Given the description of an element on the screen output the (x, y) to click on. 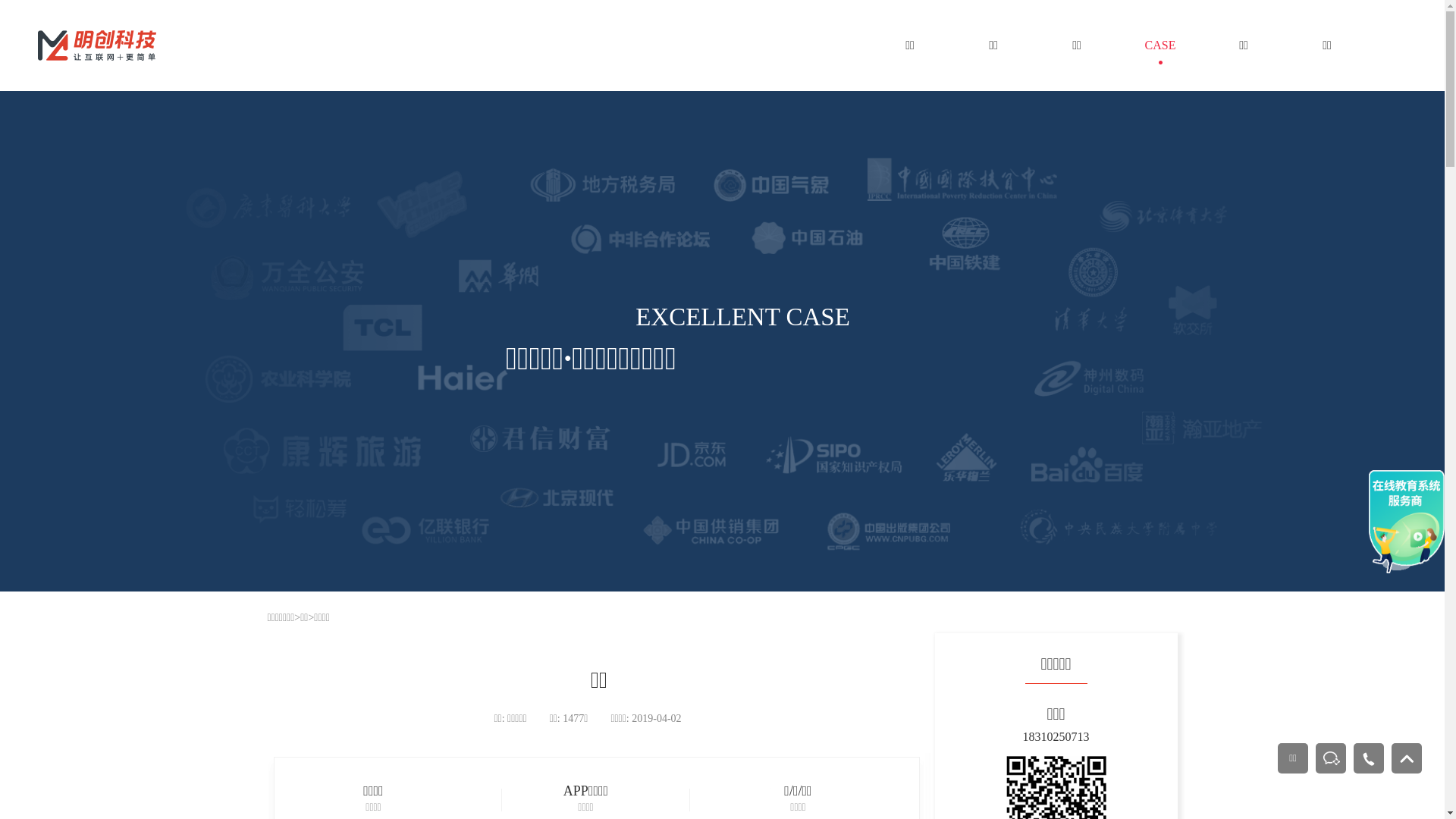
CASE Element type: text (1159, 47)
